Given the description of an element on the screen output the (x, y) to click on. 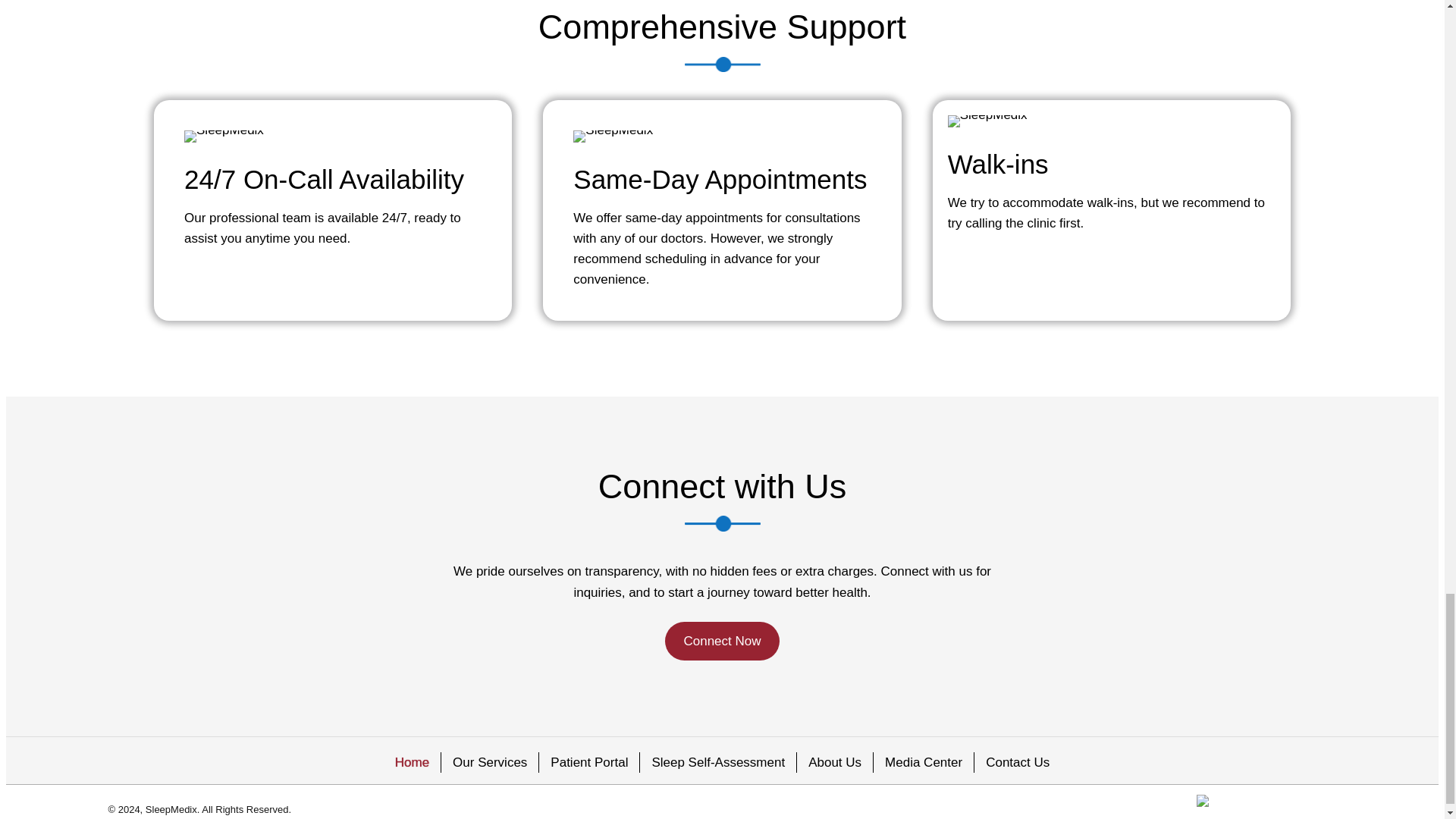
Patient Portal (588, 762)
Media Center (923, 762)
About Us (834, 762)
Our Services (489, 762)
SleepMedix (612, 136)
SleepMedix (223, 136)
Contact Us (1017, 762)
Connect Now (721, 640)
SleepMedix (987, 121)
Home (412, 762)
